Given the description of an element on the screen output the (x, y) to click on. 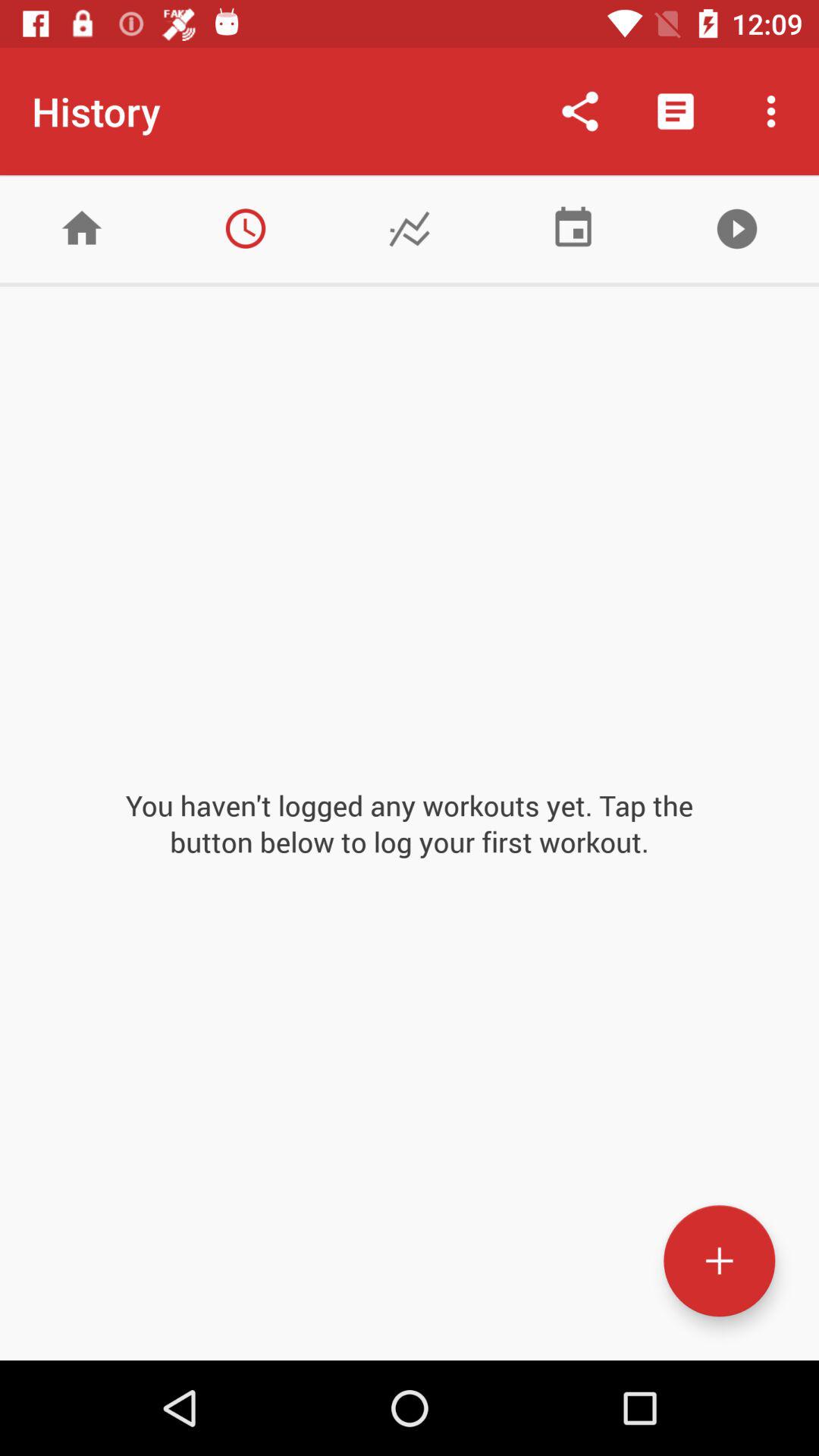
open logged sessions (245, 228)
